Given the description of an element on the screen output the (x, y) to click on. 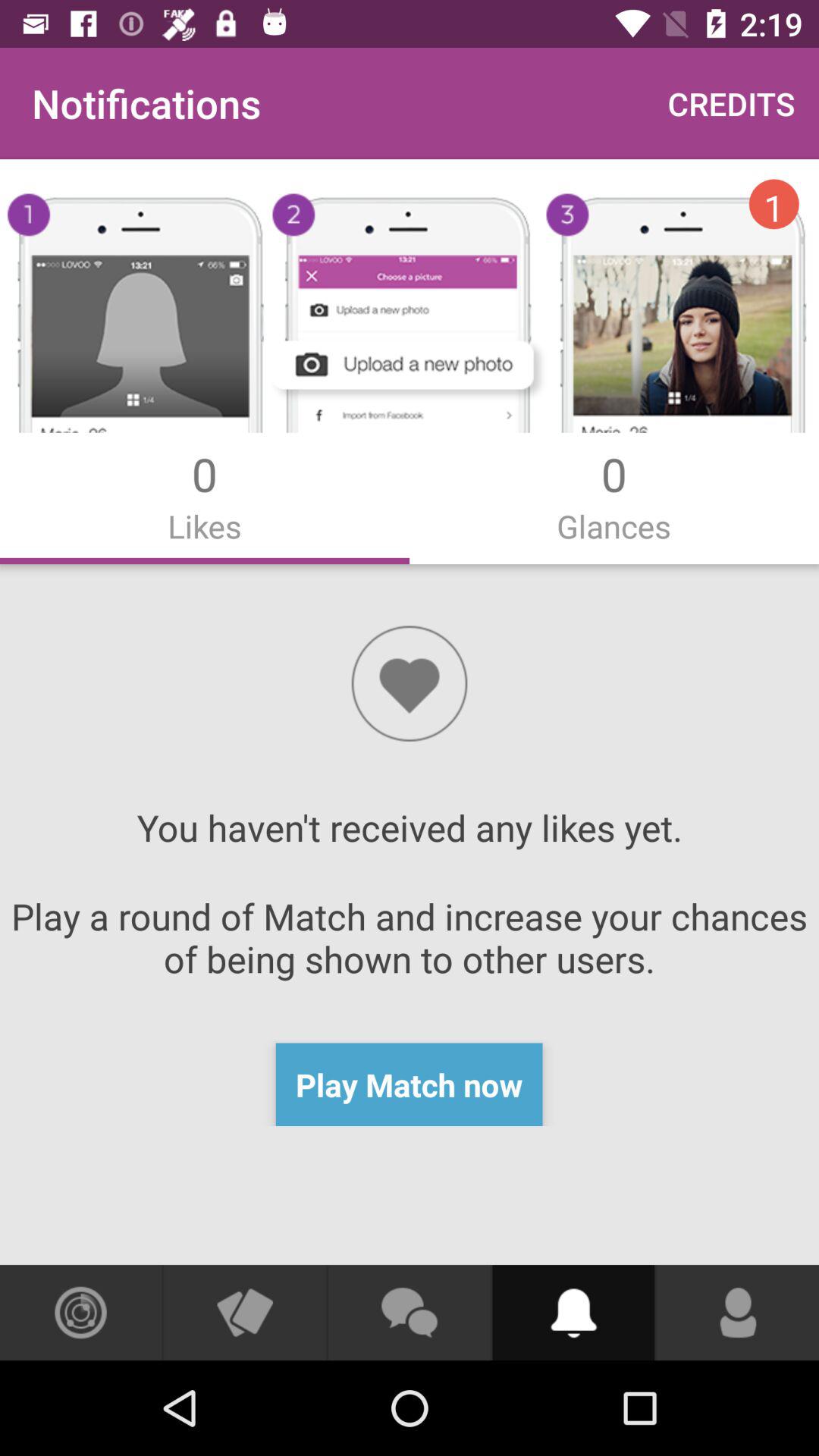
chat option (409, 1312)
